Given the description of an element on the screen output the (x, y) to click on. 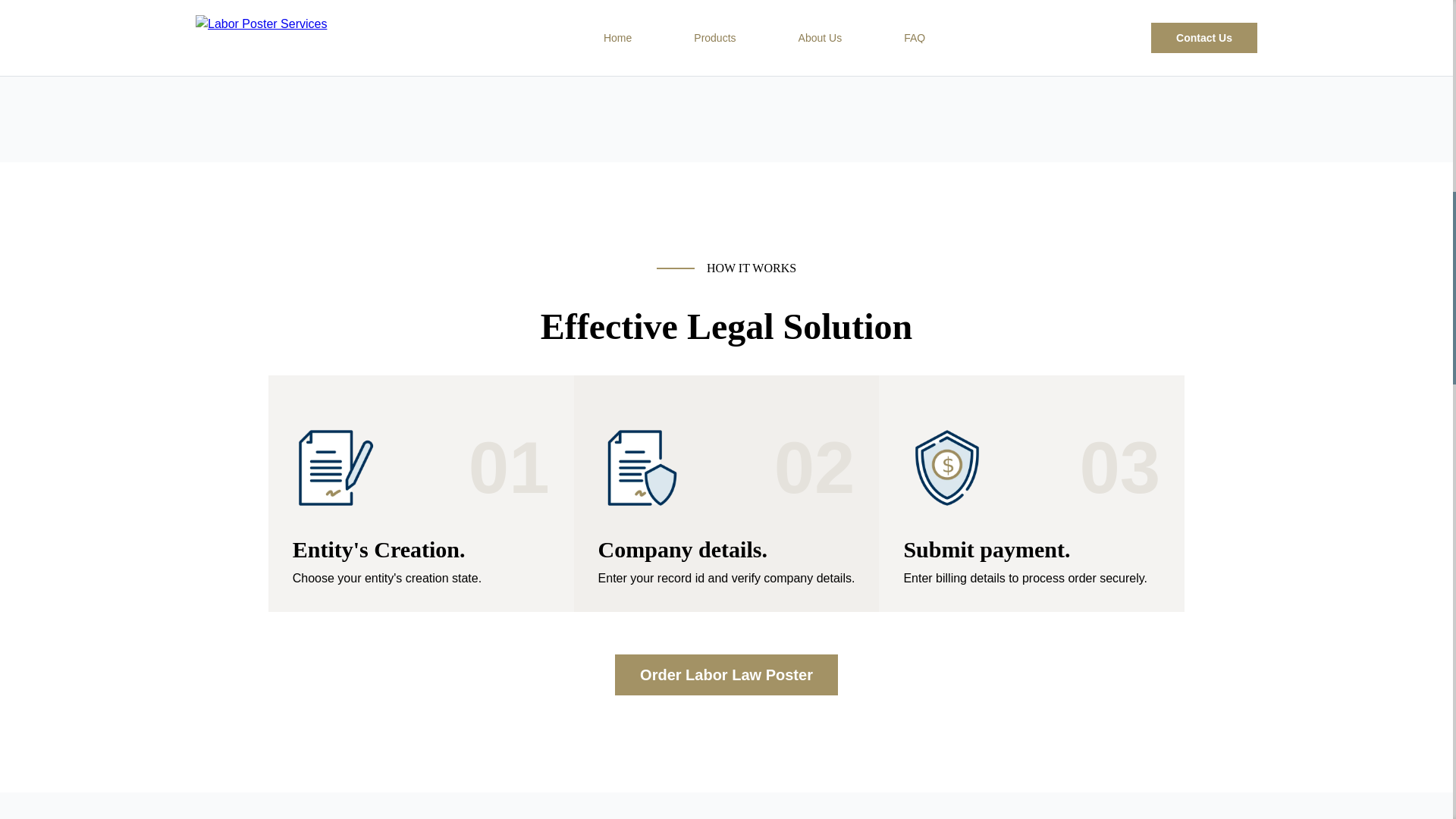
Order Labor Law Poster (726, 674)
